Given the description of an element on the screen output the (x, y) to click on. 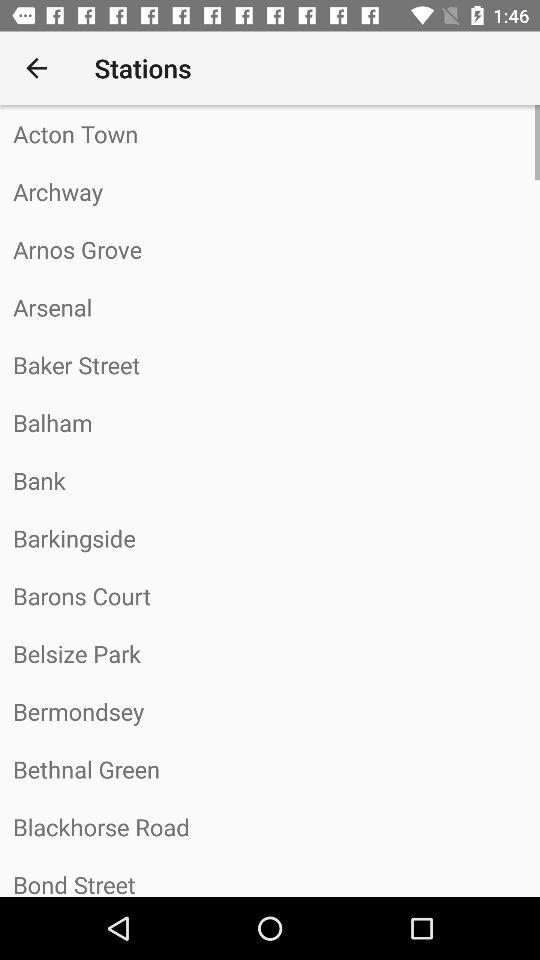
press the icon above bethnal green (270, 711)
